Given the description of an element on the screen output the (x, y) to click on. 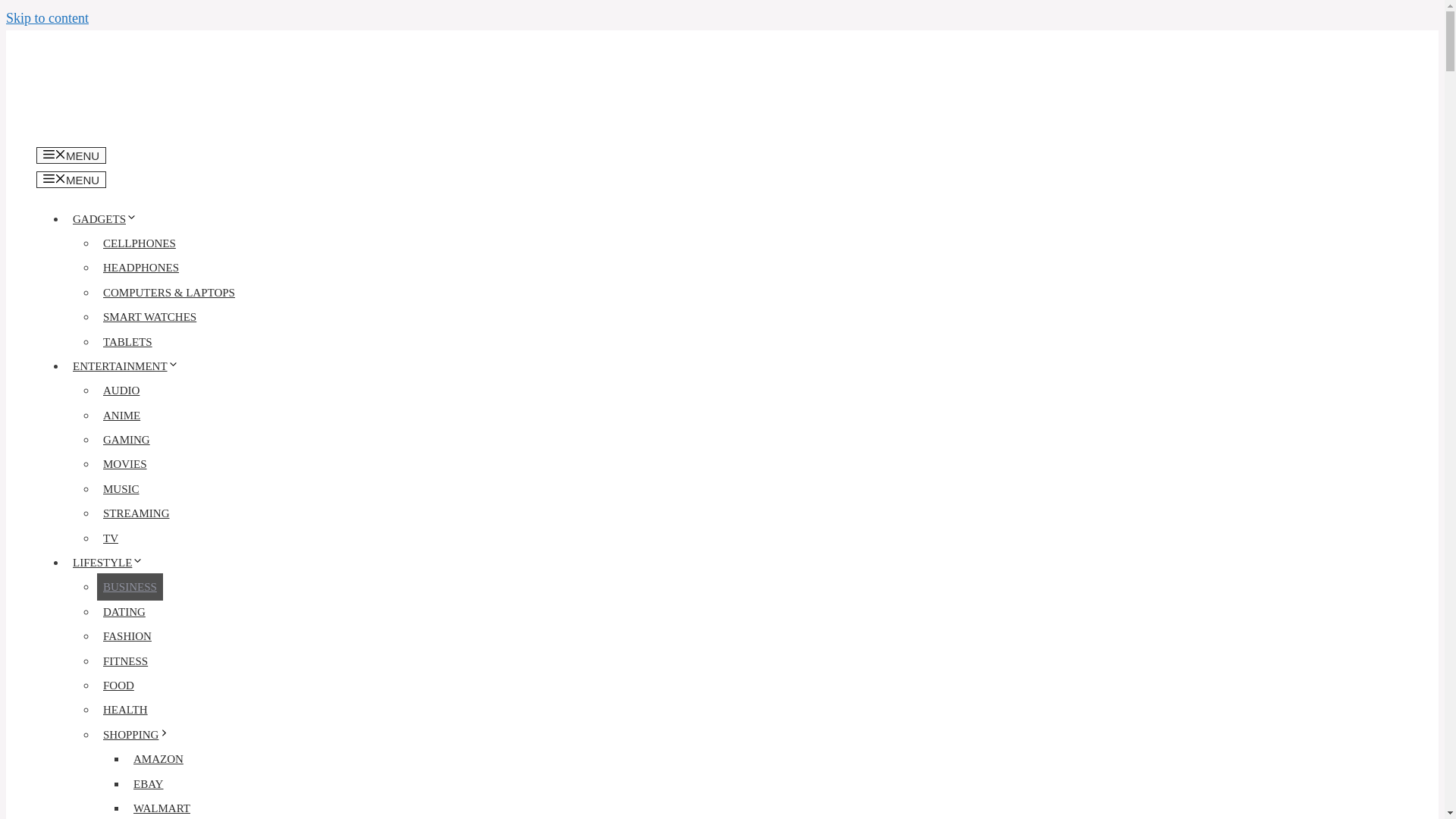
ANIME (122, 415)
FOOD (118, 685)
Skip to content (46, 17)
LIFESTYLE (110, 562)
SHOPPING (139, 734)
HEALTH (125, 709)
EBAY (148, 783)
DATING (124, 611)
WALMART (162, 806)
BUSINESS (130, 586)
